Given the description of an element on the screen output the (x, y) to click on. 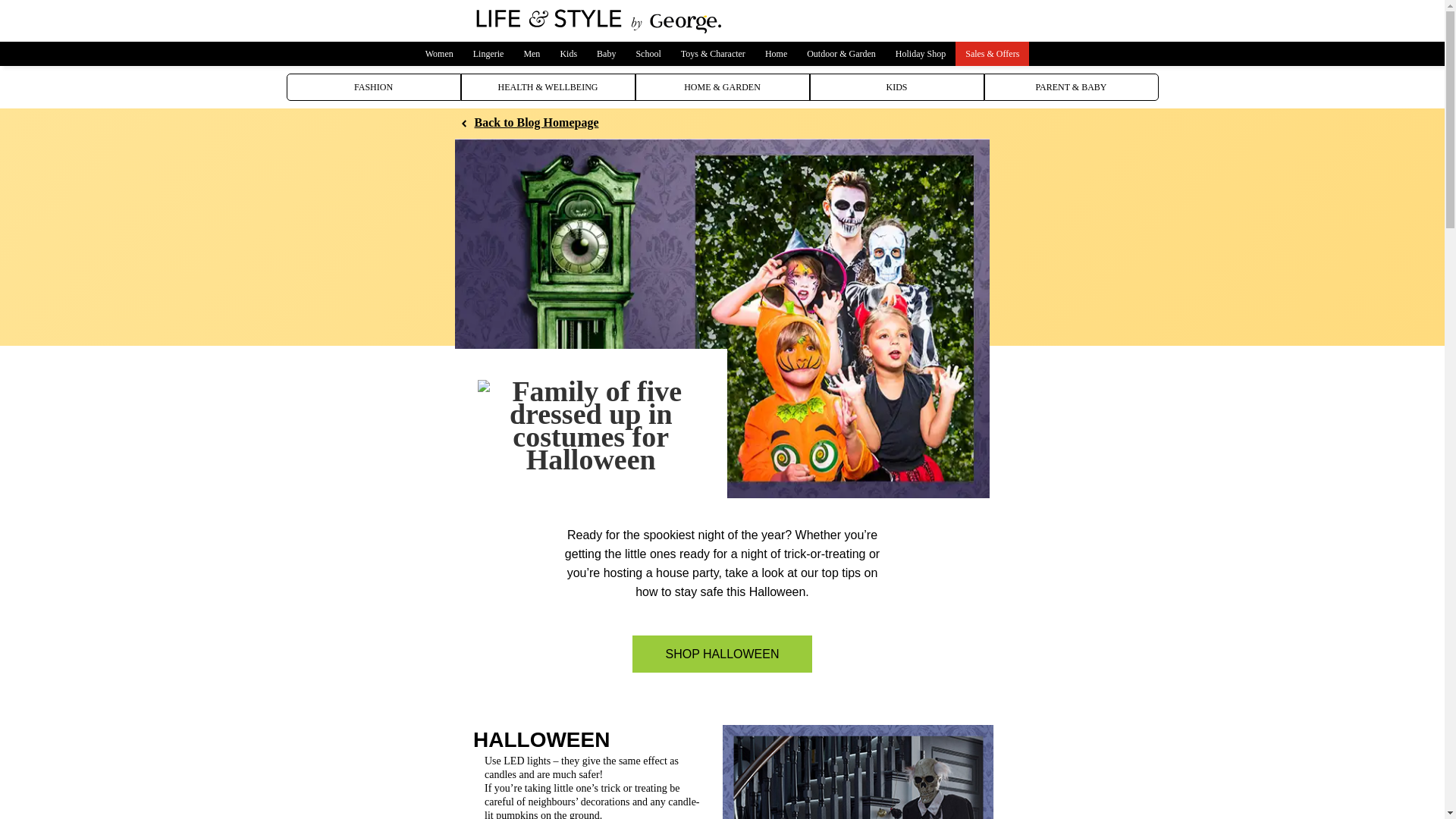
Baby (606, 53)
SHOP HALLOWEEN (721, 653)
Men (531, 53)
Back to Blog Homepage (529, 122)
KIDS (896, 86)
FASHION (373, 86)
Home (775, 53)
Holiday Shop (920, 53)
Women (438, 53)
Skeleton butler serving drinks with pet dog skeleton  (858, 771)
Kids (568, 53)
School (647, 53)
Lingerie (488, 53)
